Given the description of an element on the screen output the (x, y) to click on. 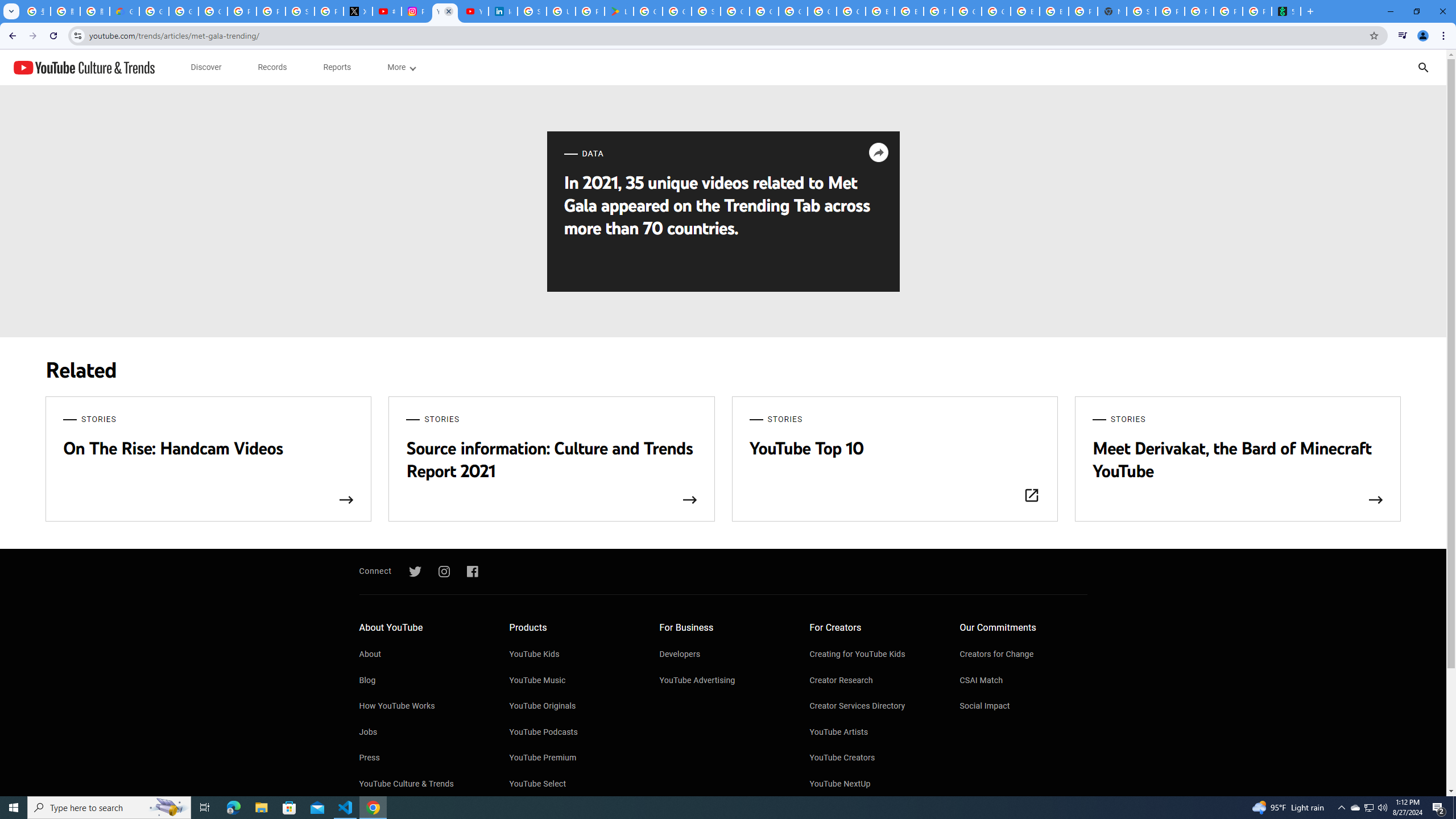
Facebook (472, 571)
About (422, 655)
Creator Research (873, 681)
STORIES YouTube Top 10 (894, 459)
Creator Services Directory (873, 706)
YouTube Music (573, 681)
Creating for YouTube Kids (873, 655)
YouTube Culture & Trends - YouTube Top 10, 2021 (473, 11)
YouTube NextUp (873, 784)
JUMP TO CONTENT (118, 67)
